Given the description of an element on the screen output the (x, y) to click on. 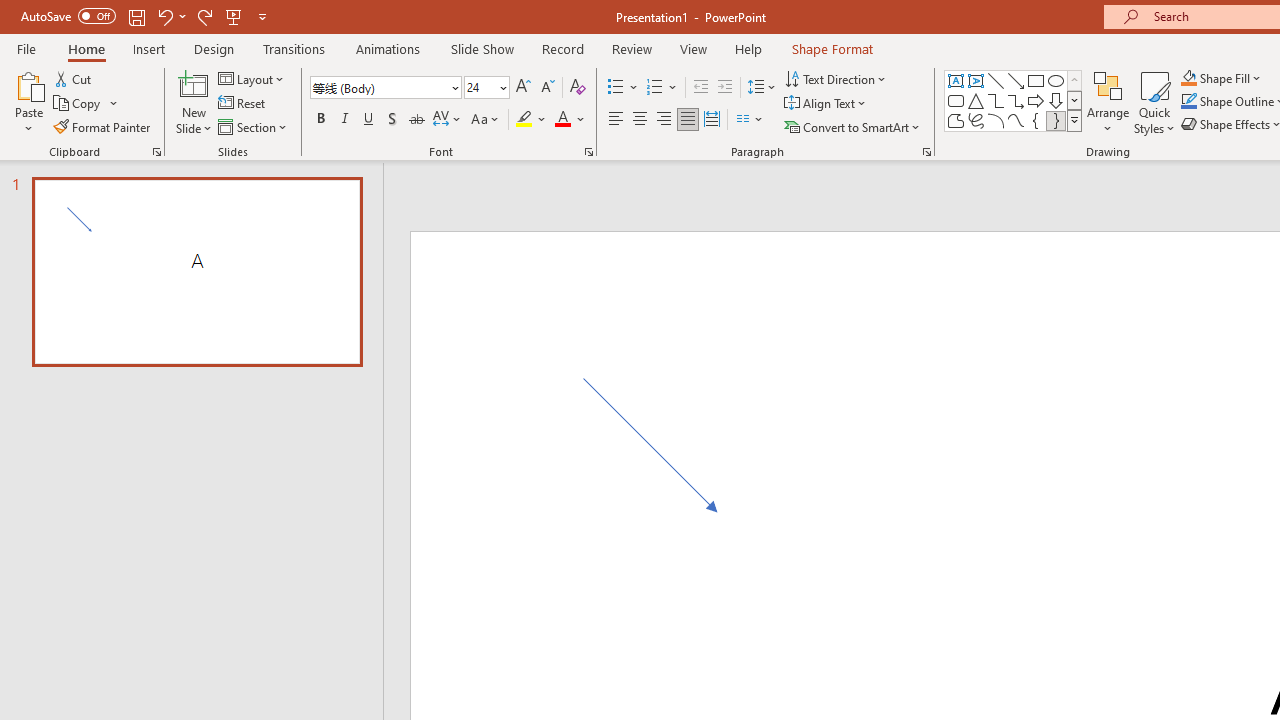
Isosceles Triangle (975, 100)
Clear Formatting (577, 87)
Connector: Elbow Arrow (1016, 100)
Arrow: Down (1055, 100)
Freeform: Scribble (975, 120)
Shape Fill (1221, 78)
Text Highlight Color (531, 119)
Line Arrow (1016, 80)
